Given the description of an element on the screen output the (x, y) to click on. 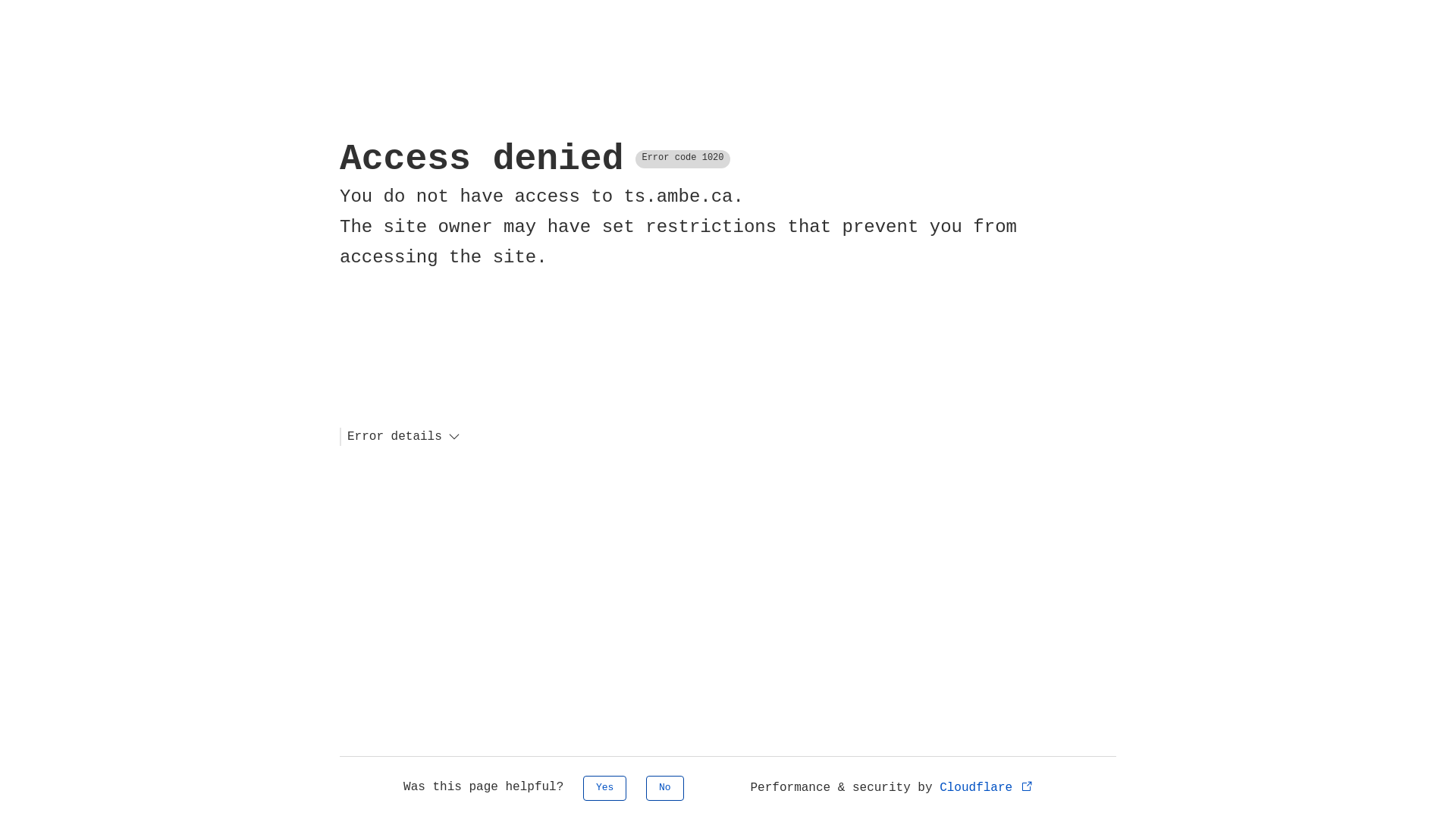
No Element type: text (665, 787)
Cloudflare Element type: text (986, 787)
Yes Element type: text (604, 787)
Opens in new tab Element type: hover (1027, 785)
